Given the description of an element on the screen output the (x, y) to click on. 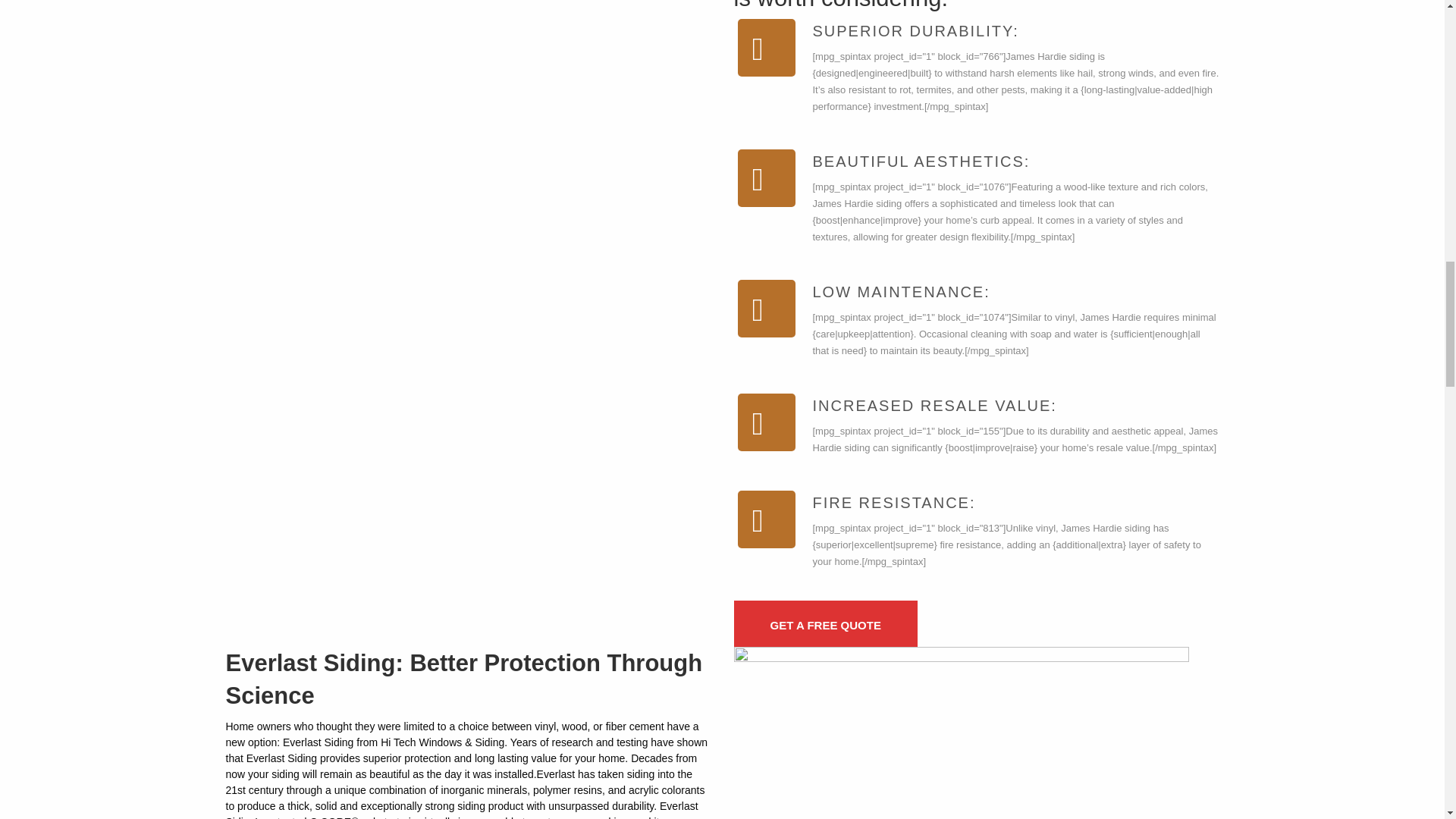
everlast-siding-blue (961, 733)
